Given the description of an element on the screen output the (x, y) to click on. 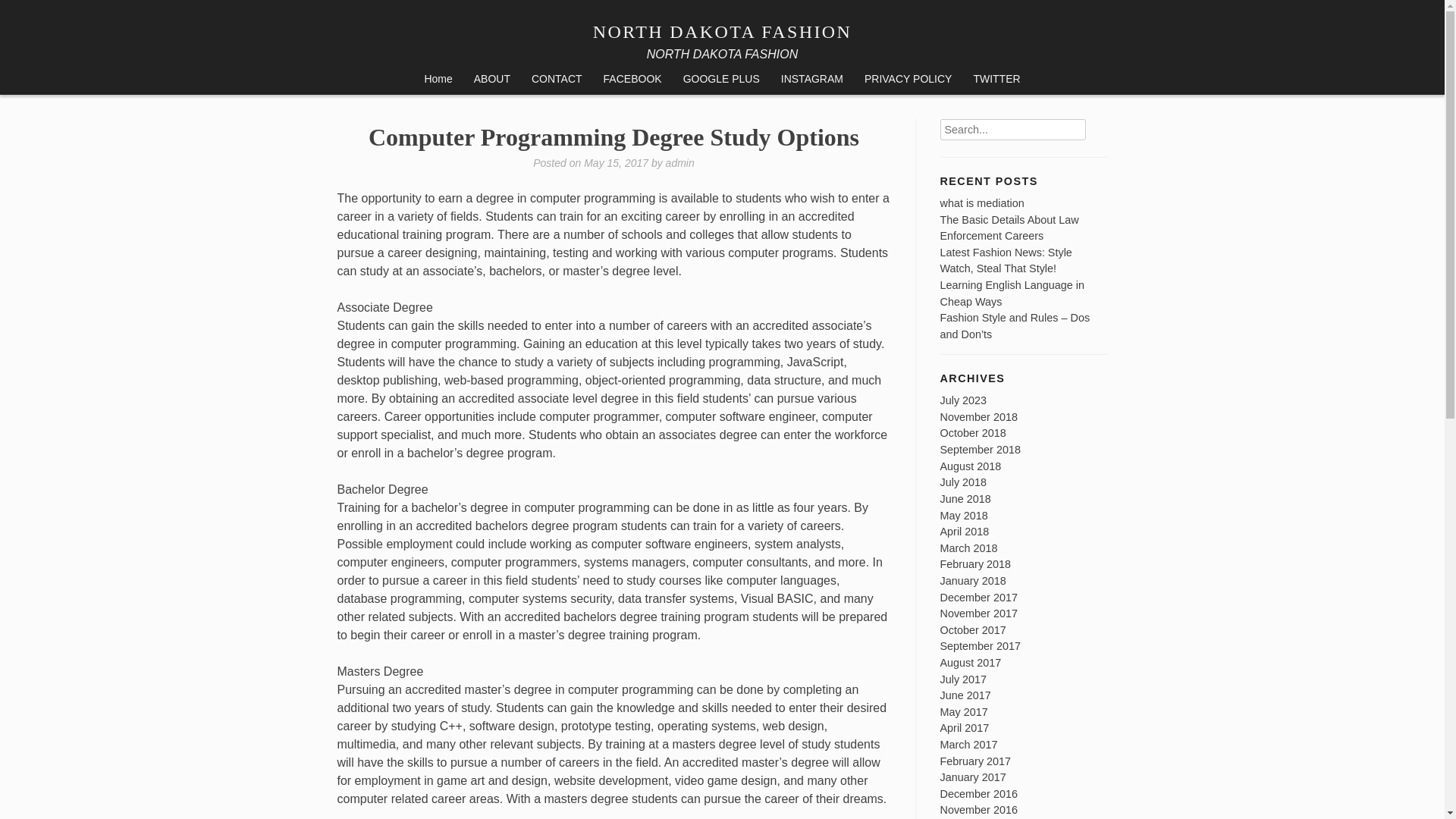
Home (438, 80)
December 2017 (978, 597)
October 2018 (973, 432)
August 2018 (970, 466)
The Basic Details About Law Enforcement Careers (1009, 227)
August 2017 (970, 662)
INSTAGRAM (811, 80)
July 2023 (963, 399)
Search (1095, 123)
GOOGLE PLUS (721, 80)
PRIVACY POLICY (907, 80)
FACEBOOK (632, 80)
April 2018 (965, 531)
November 2017 (978, 613)
May 15, 2017 (615, 162)
